Given the description of an element on the screen output the (x, y) to click on. 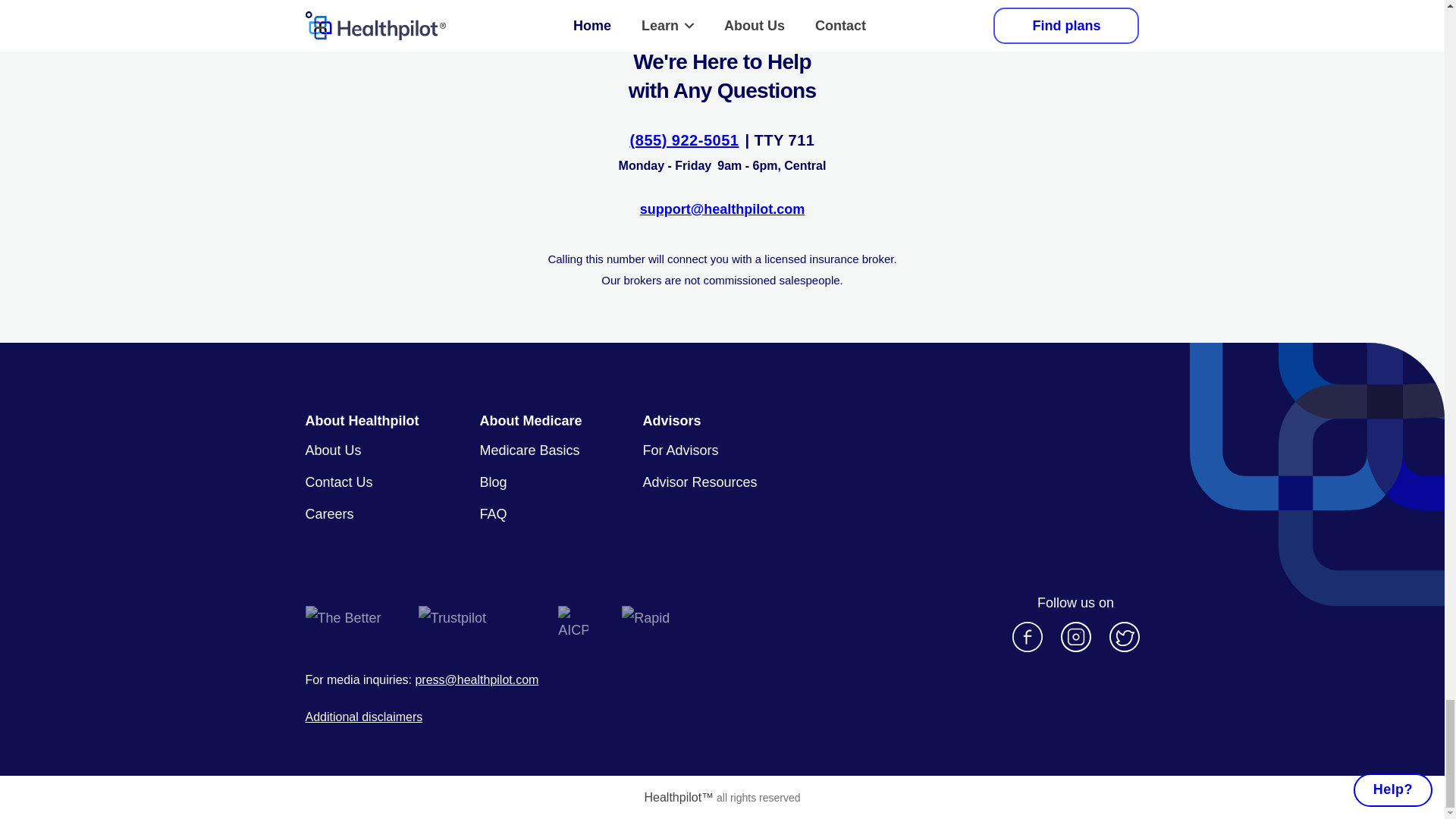
Follow us on Facebook (1026, 636)
About Us (332, 450)
Contact Us (338, 482)
Advisor Resources (700, 482)
Medicare Basics (529, 450)
Find us on Instagram (1074, 636)
Find us on Instagram (1074, 636)
Find us on Twitter (1123, 636)
Find us on Twitter (1123, 636)
Careers (328, 513)
Blog (492, 482)
Find us on Facebook (1026, 636)
Additional disclaimers (363, 717)
For Advisors (681, 450)
FAQ (492, 513)
